Given the description of an element on the screen output the (x, y) to click on. 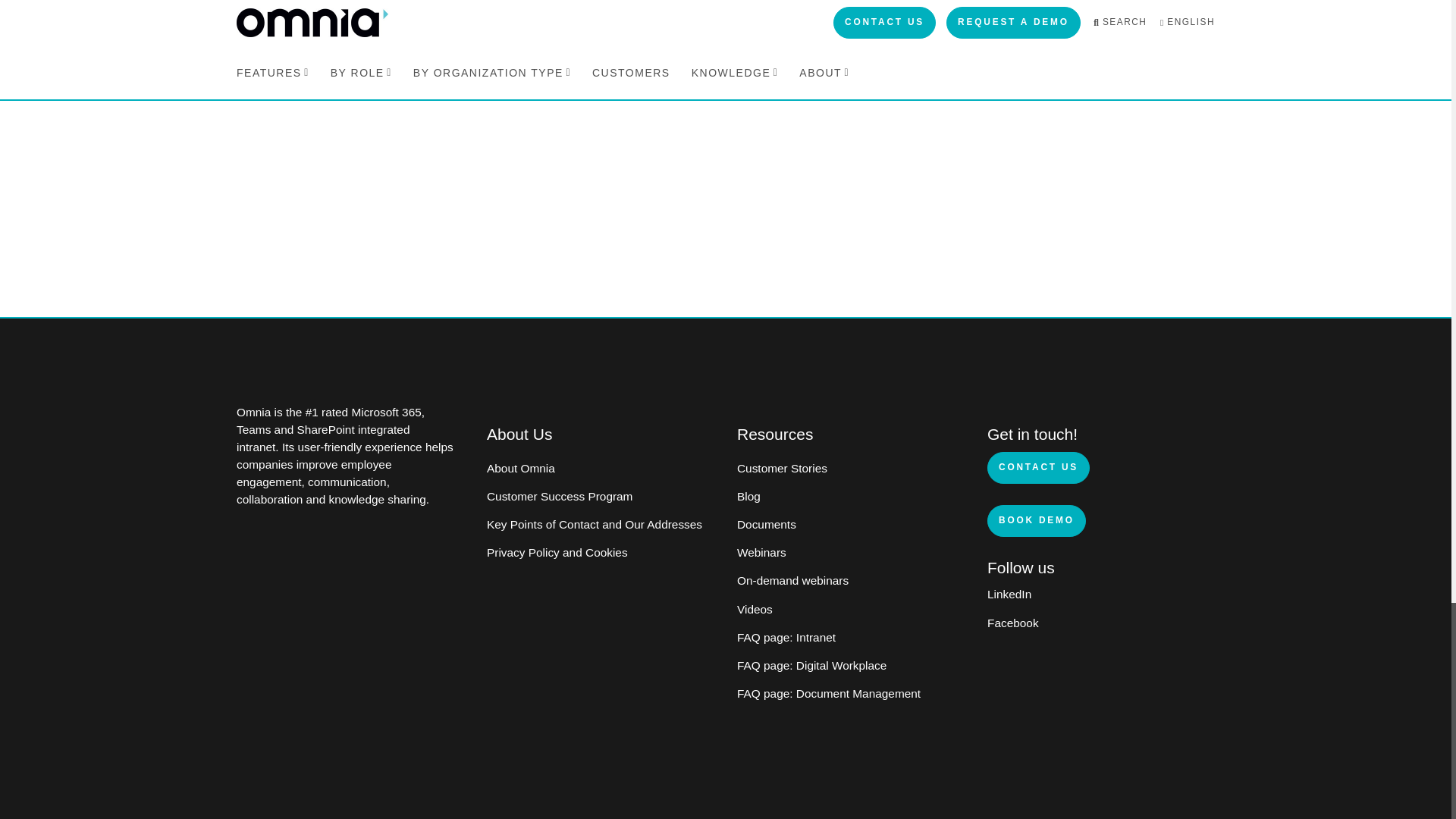
Facebook (1013, 622)
Book demo (1036, 521)
Linkedin (1008, 594)
Contact us (1038, 468)
